Given the description of an element on the screen output the (x, y) to click on. 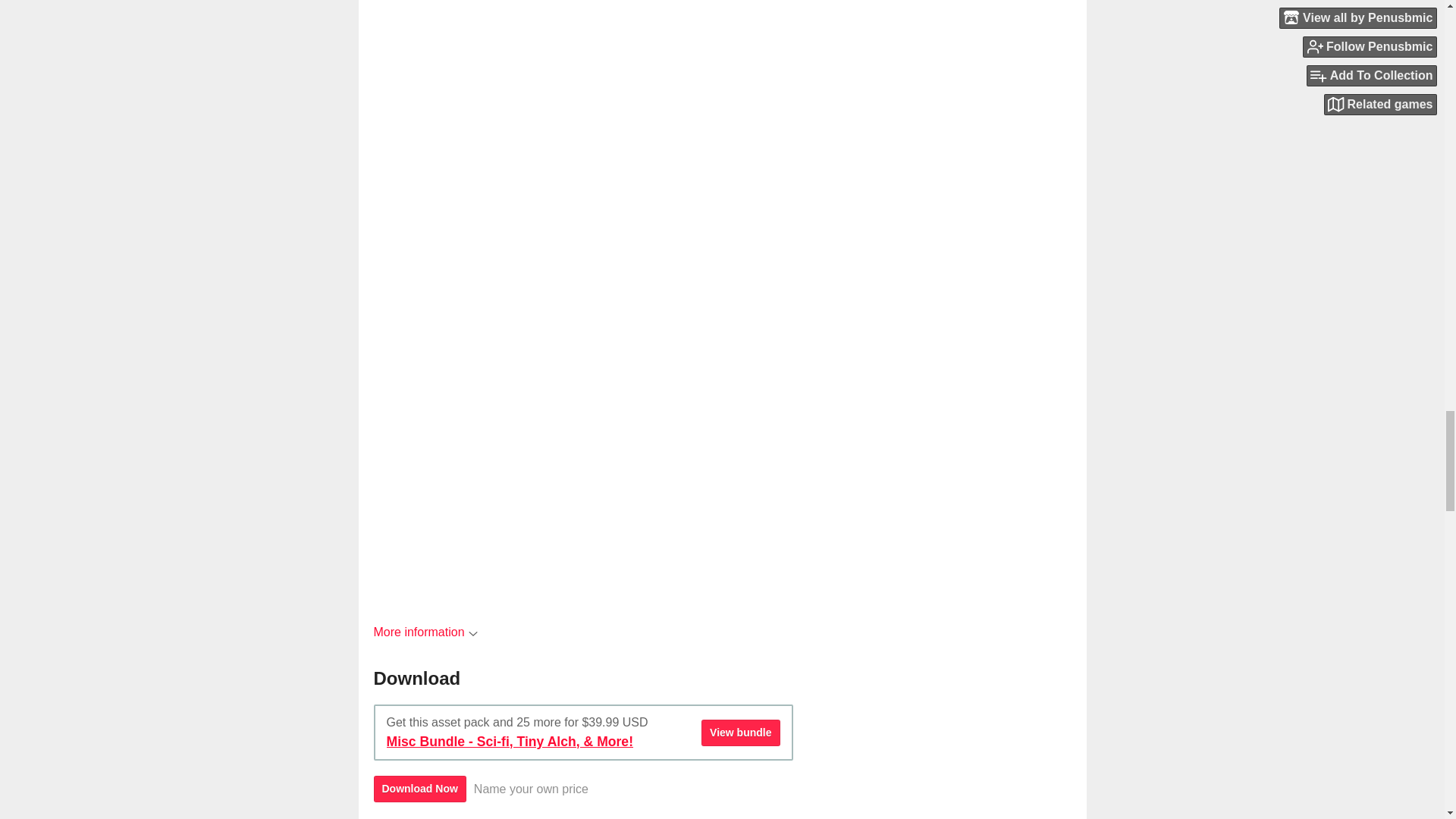
View bundle (739, 732)
Download Now (418, 788)
More information (424, 631)
